Given the description of an element on the screen output the (x, y) to click on. 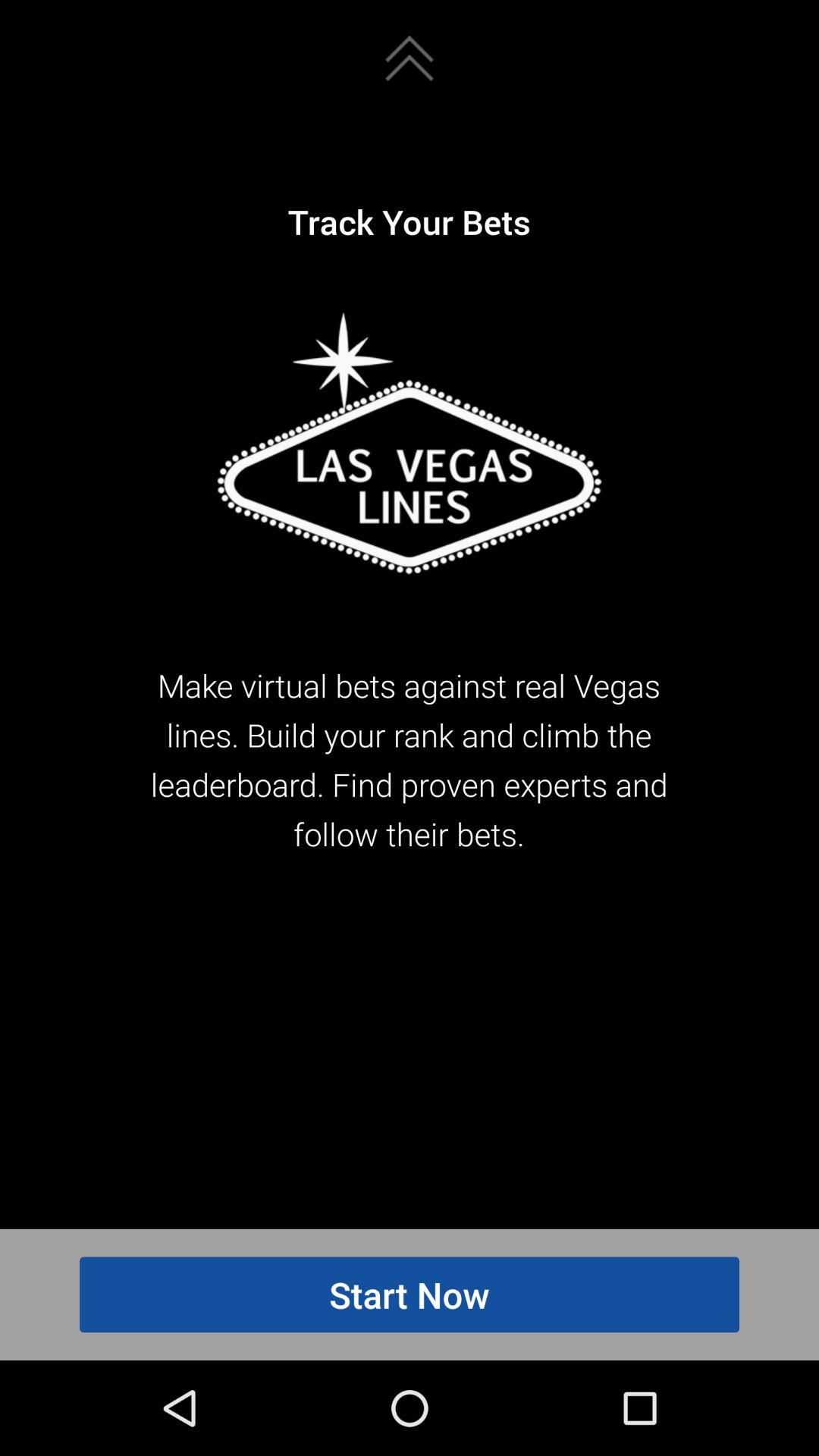
press the start now (409, 1294)
